Given the description of an element on the screen output the (x, y) to click on. 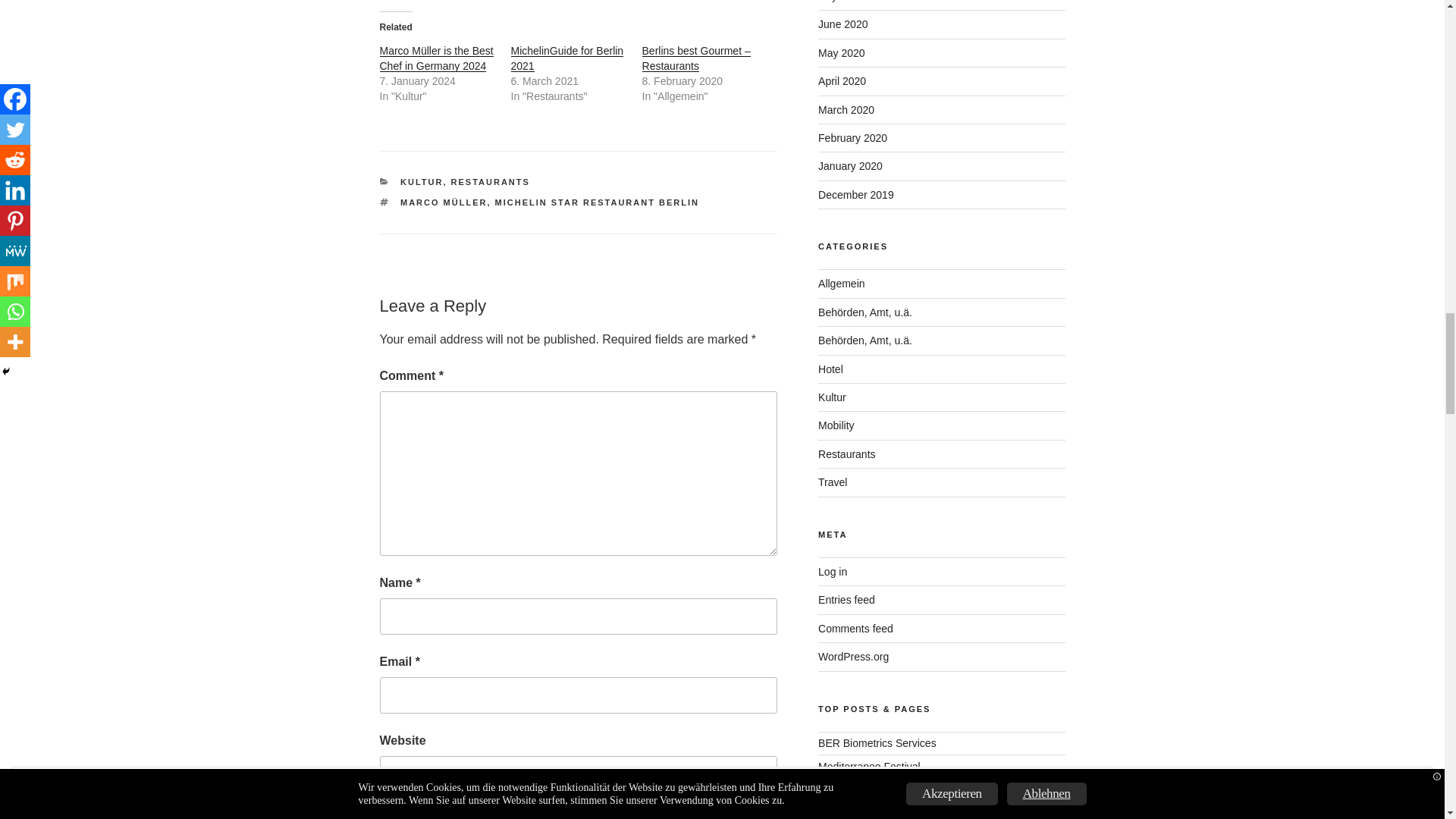
MichelinGuide for Berlin 2021 (567, 58)
RESTAURANTS (490, 181)
subscribe (383, 816)
KULTUR (421, 181)
MICHELIN STAR RESTAURANT BERLIN (596, 202)
MichelinGuide for Berlin 2021 (567, 58)
